Given the description of an element on the screen output the (x, y) to click on. 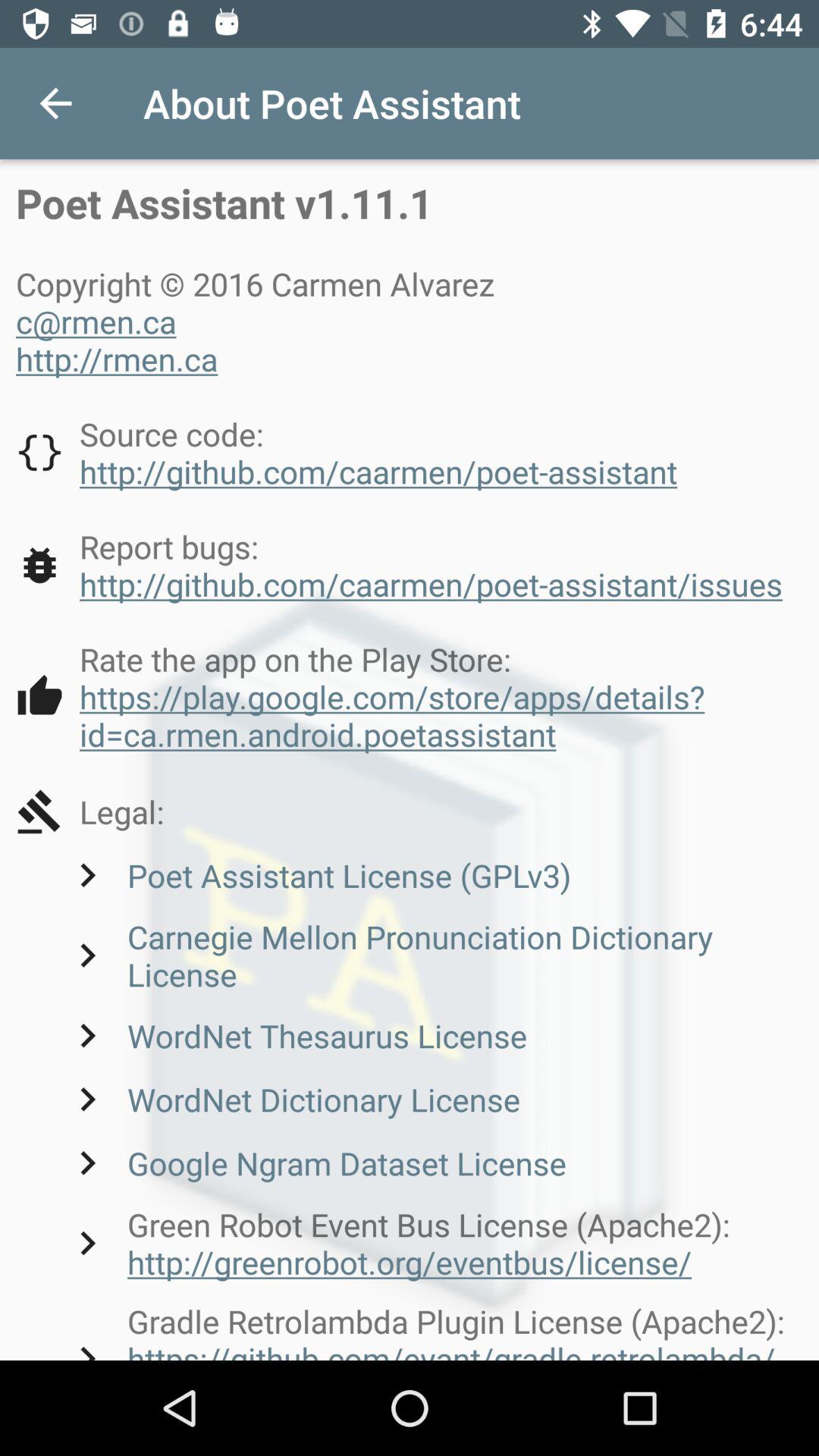
choose item above rate the app item (398, 564)
